Given the description of an element on the screen output the (x, y) to click on. 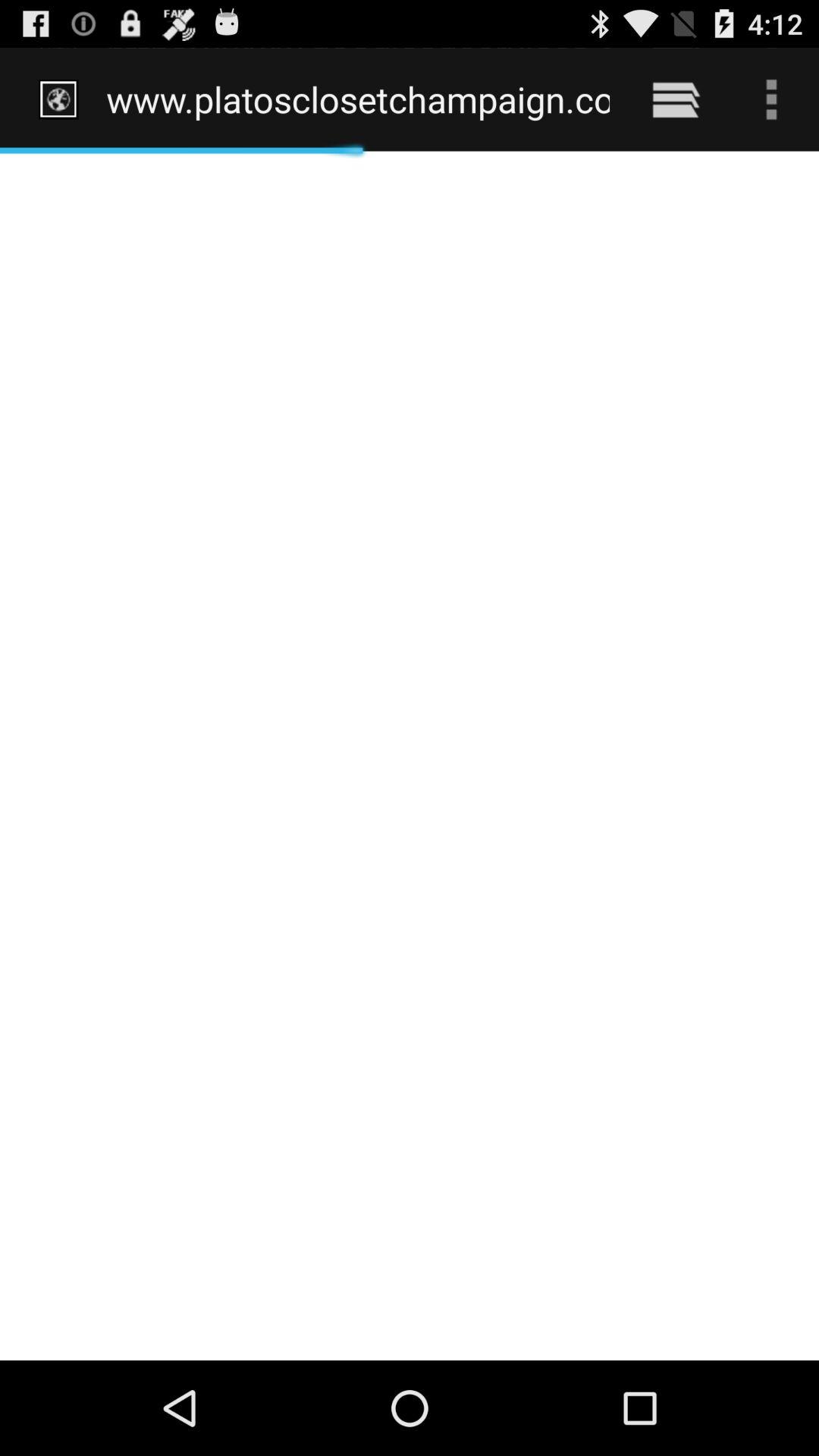
tap item below www.platosclosetchampaign.com icon (409, 755)
